Given the description of an element on the screen output the (x, y) to click on. 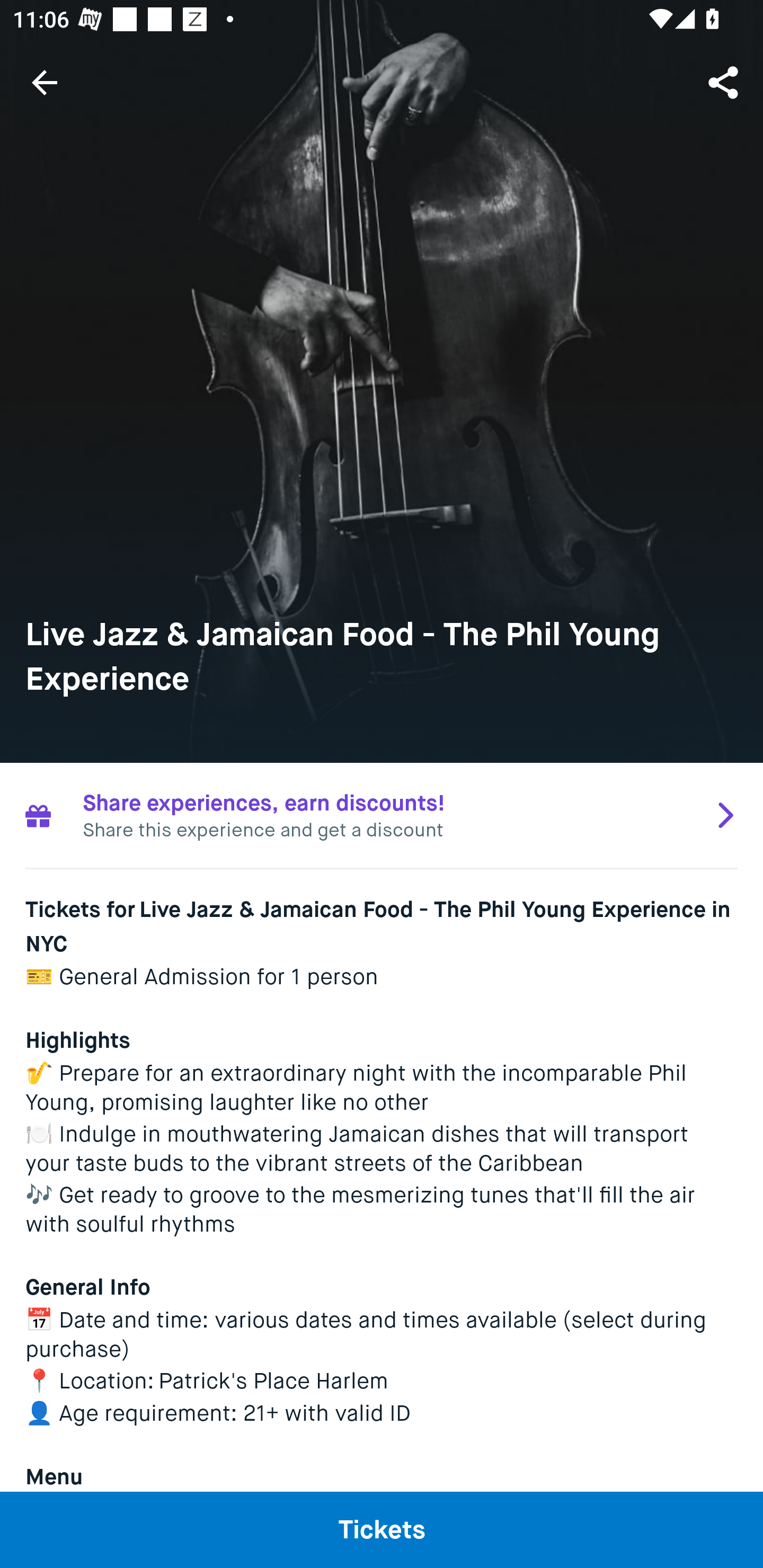
Navigate up (44, 82)
Share (724, 81)
Tickets (381, 1529)
